Given the description of an element on the screen output the (x, y) to click on. 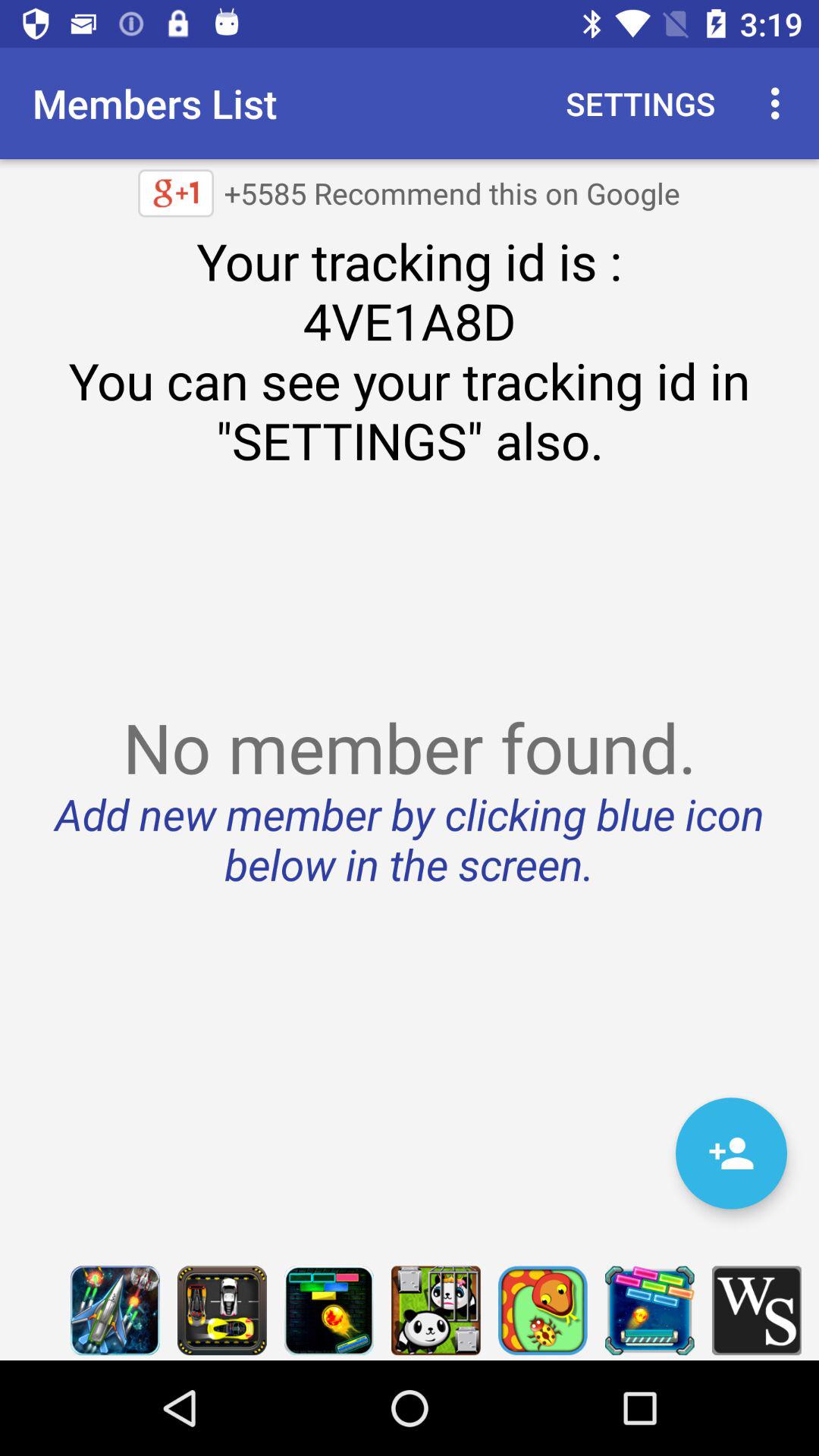
open app (649, 1310)
